Given the description of an element on the screen output the (x, y) to click on. 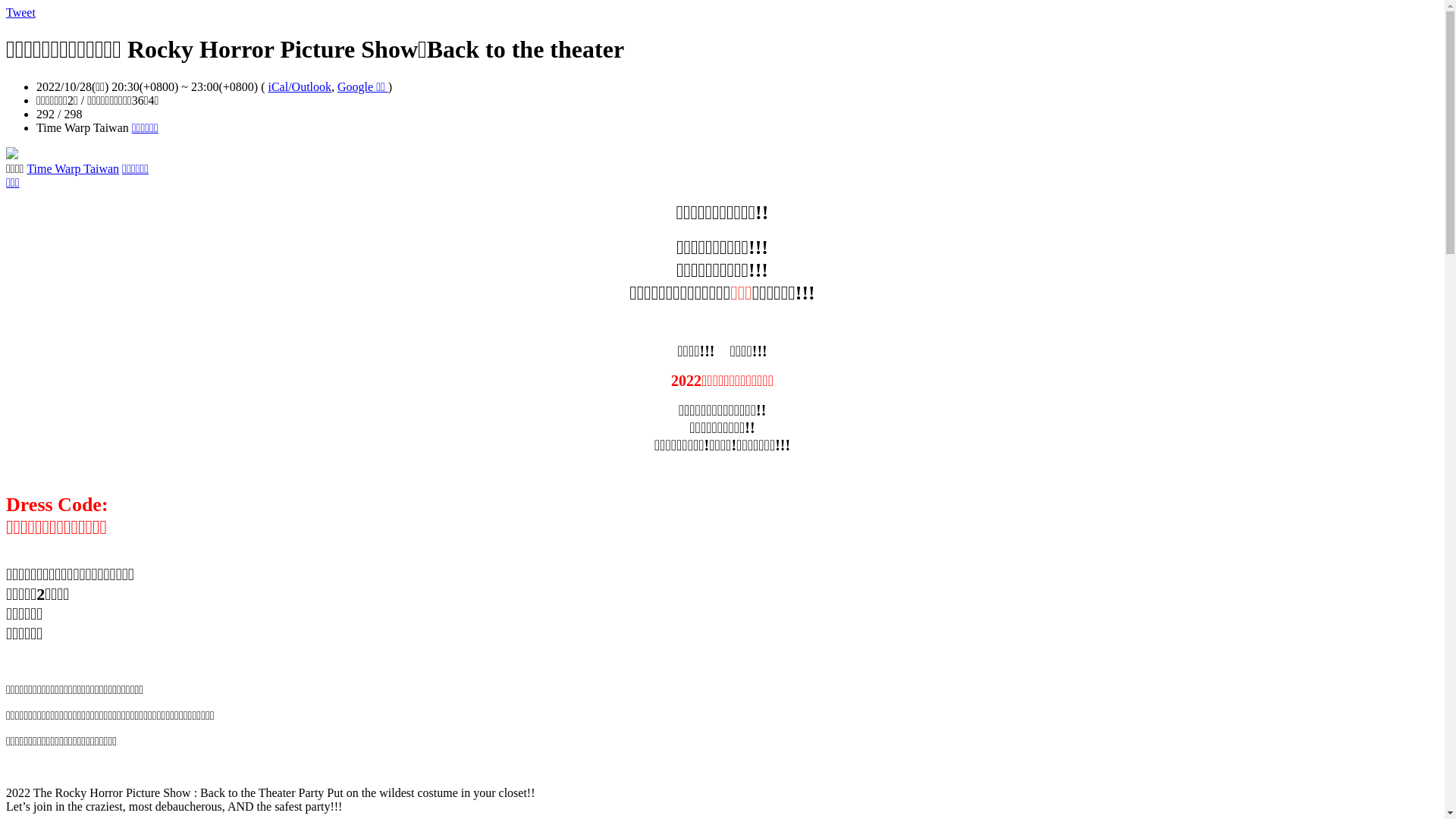
Tweet Element type: text (20, 12)
Time Warp Taiwan Element type: text (72, 168)
iCal/Outlook Element type: text (299, 86)
